Given the description of an element on the screen output the (x, y) to click on. 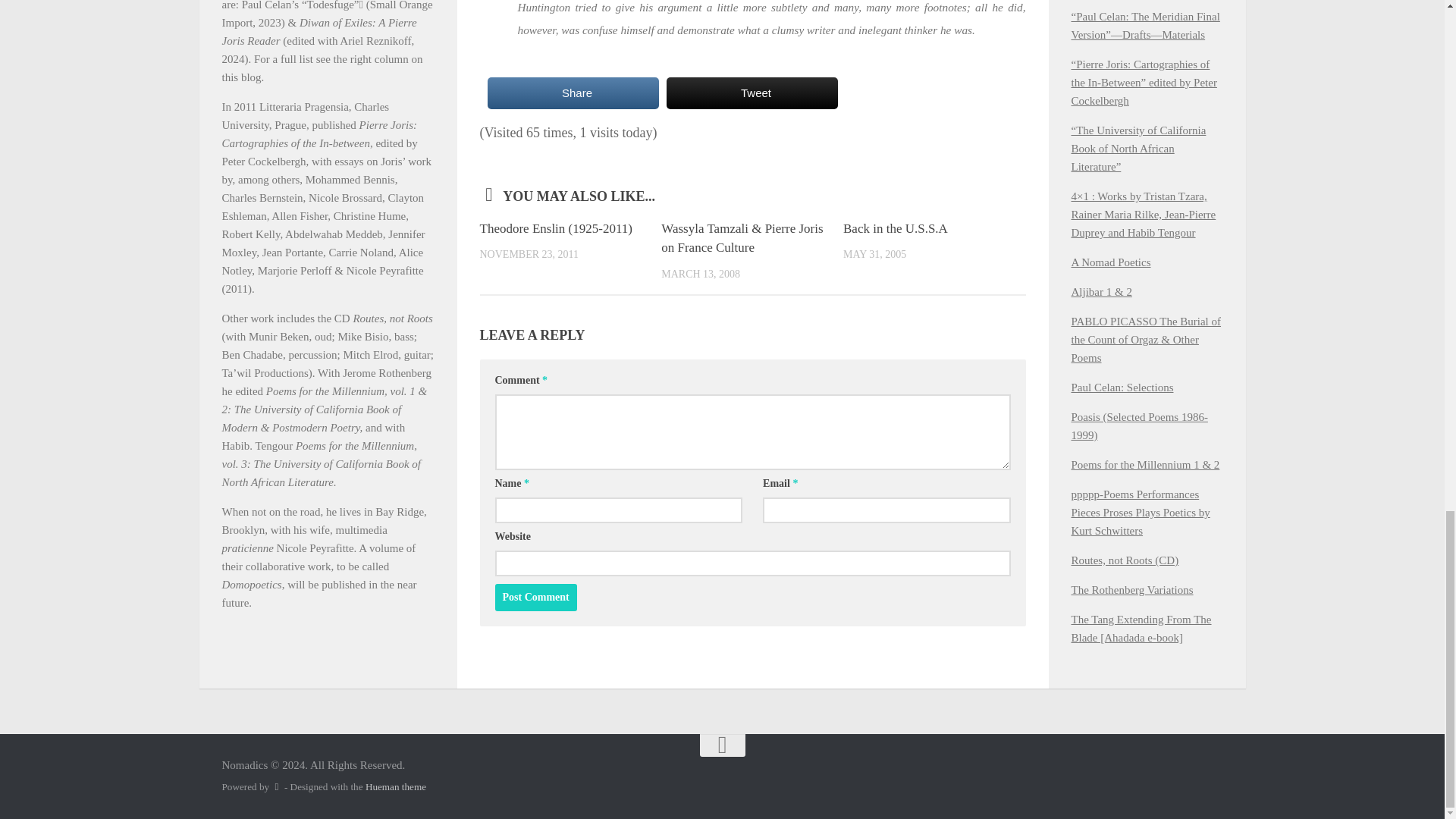
Share (572, 93)
Post Comment (535, 596)
Post Comment (535, 596)
Back in the U.S.S.A (895, 228)
Tweet (751, 93)
